Given the description of an element on the screen output the (x, y) to click on. 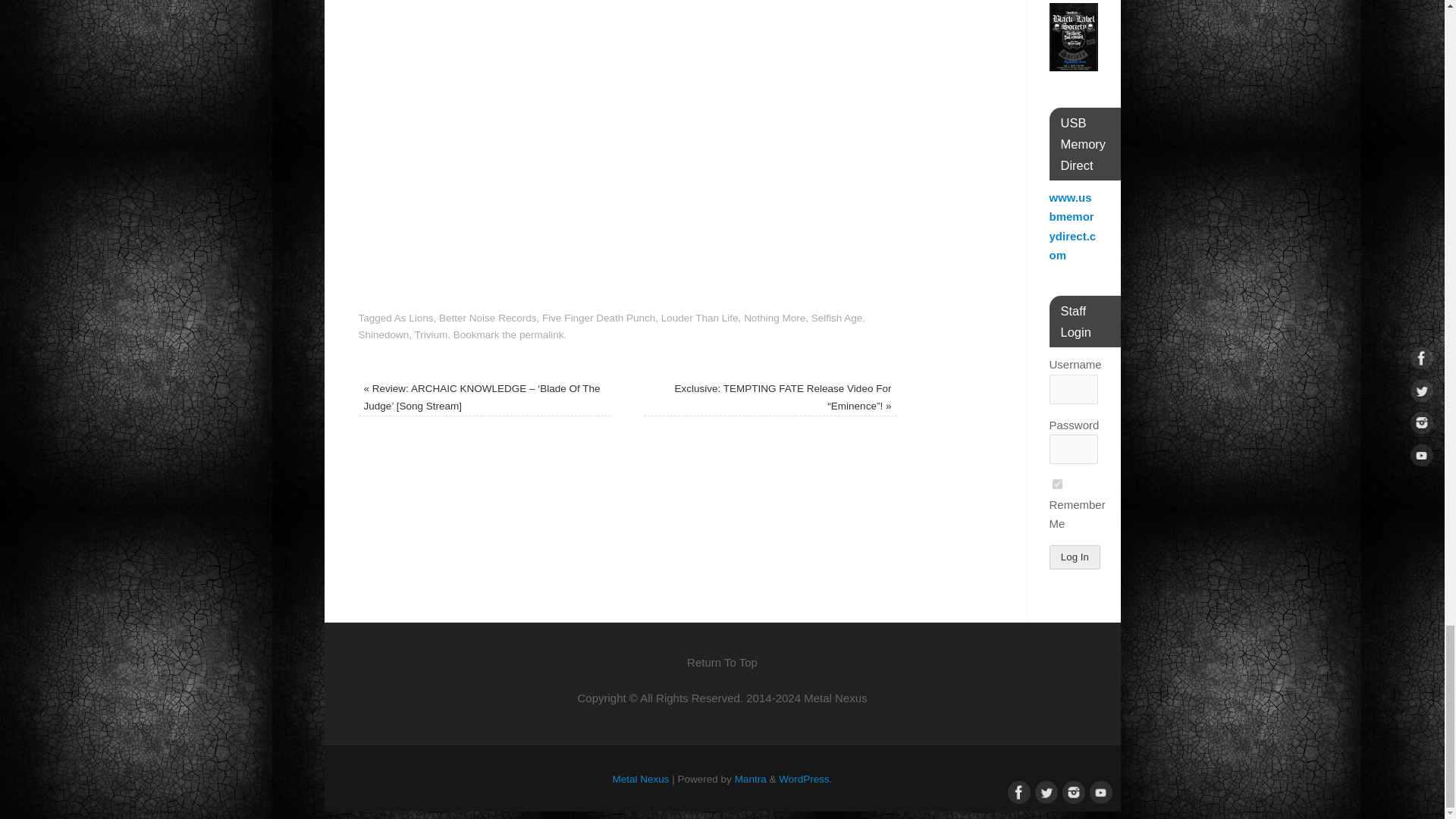
Mantra Theme by Cryout Creations (751, 778)
forever (1057, 483)
As Lions (413, 317)
Selfish Age (836, 317)
Facebook (1016, 790)
Metal Nexus (640, 778)
Twitter (1043, 790)
Shinedown (383, 334)
Semantic Personal Publishing Platform (804, 778)
Five Finger Death Punch (598, 317)
permalink (541, 334)
Trivium (431, 334)
Log In (1074, 557)
Louder Than Life (699, 317)
